Given the description of an element on the screen output the (x, y) to click on. 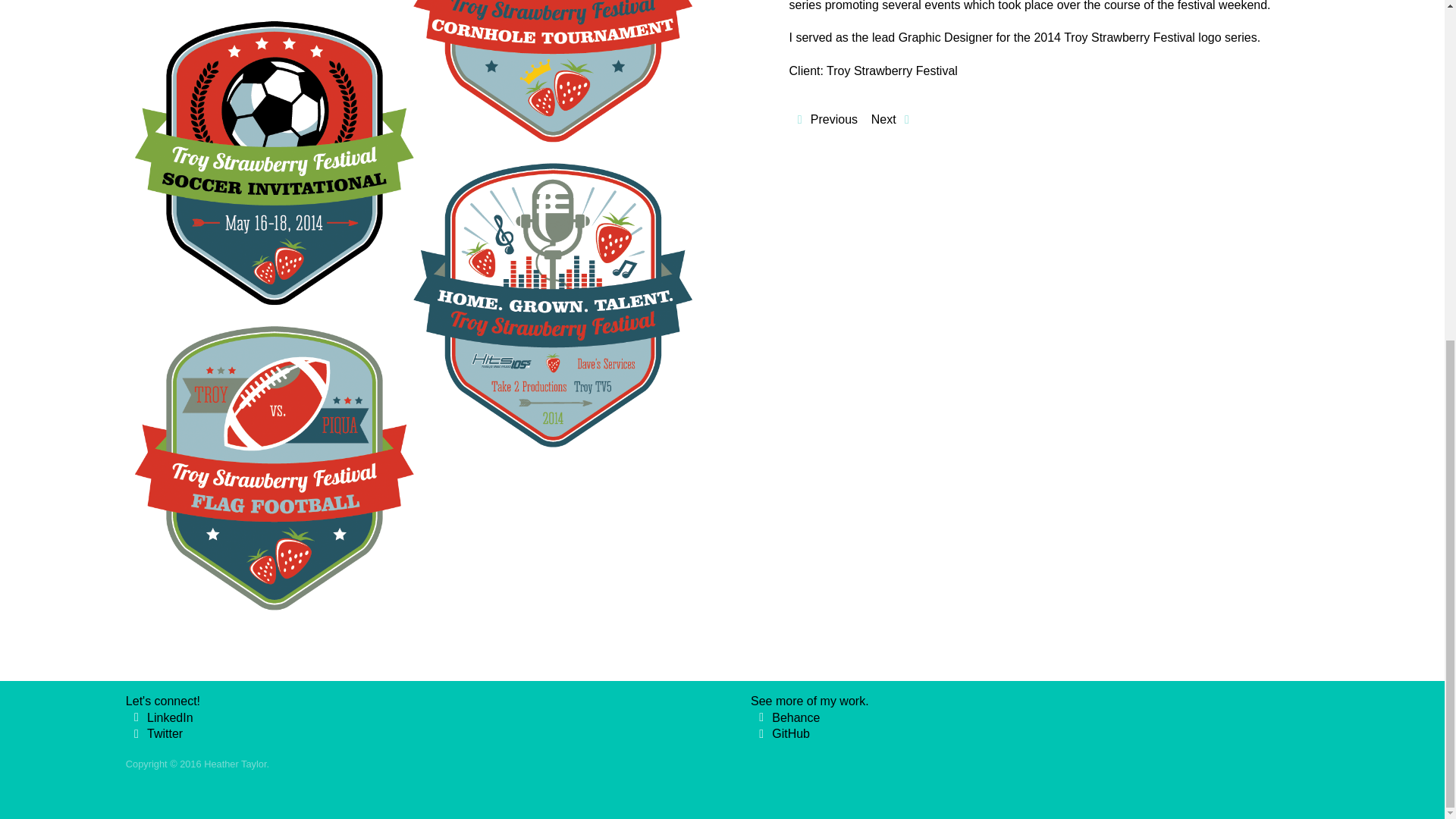
Previous (833, 119)
Behance (795, 717)
LinkedIn (170, 717)
Twitter (165, 733)
GitHub (790, 733)
Next (883, 119)
